Given the description of an element on the screen output the (x, y) to click on. 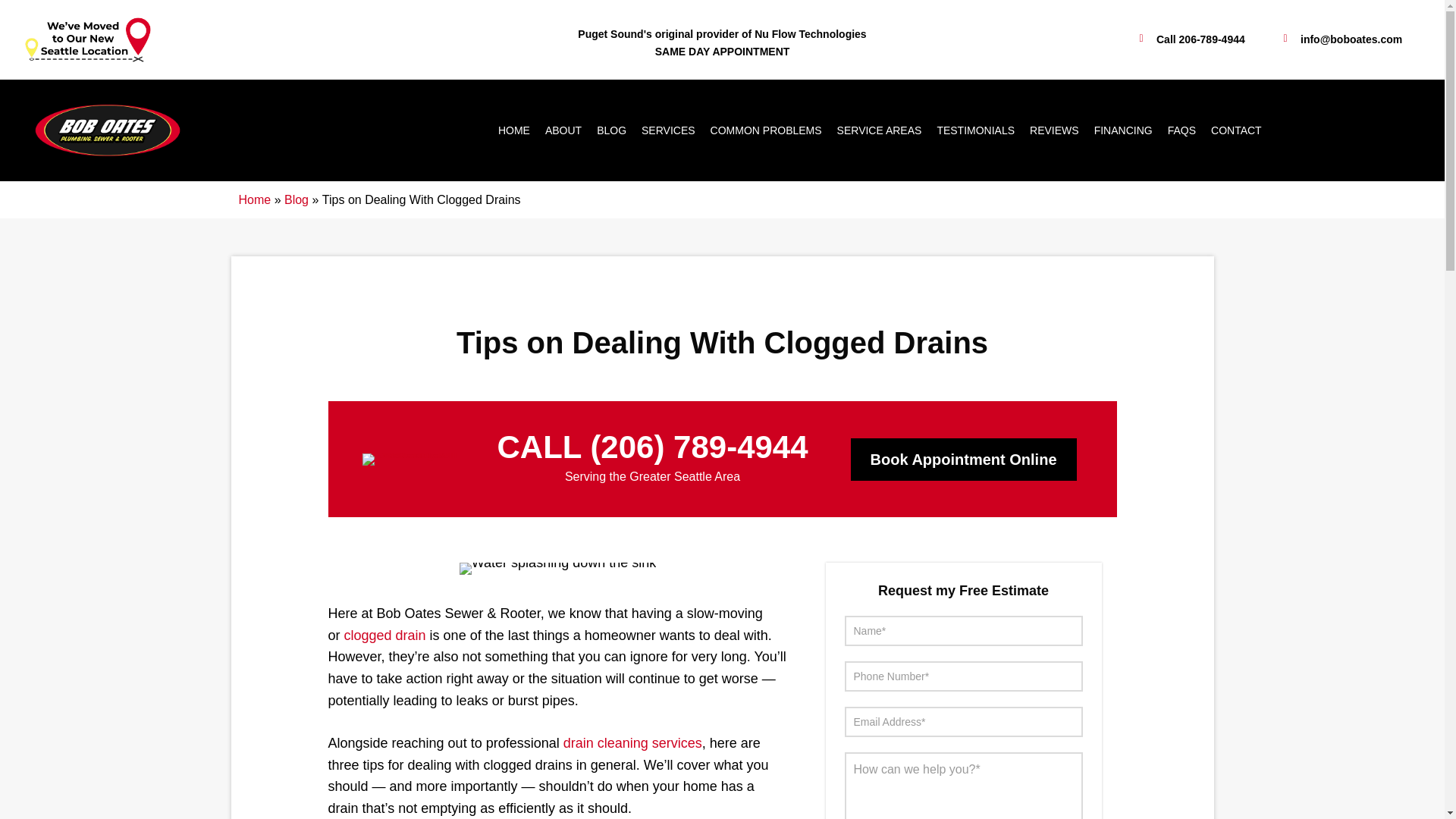
bob-oates-seattle-wa-white (411, 459)
Water splashing down in the sink, close up (558, 568)
COMMON PROBLEMS (766, 130)
HOME (513, 130)
we-move-img (87, 39)
Puget Sound's original provider of Nu Flow Technologies (722, 33)
SERVICE AREAS (879, 130)
ABOUT (563, 130)
BLOG (611, 130)
SERVICES (668, 130)
Bob Oates (107, 130)
Call 206-789-4944 (1189, 39)
